Given the description of an element on the screen output the (x, y) to click on. 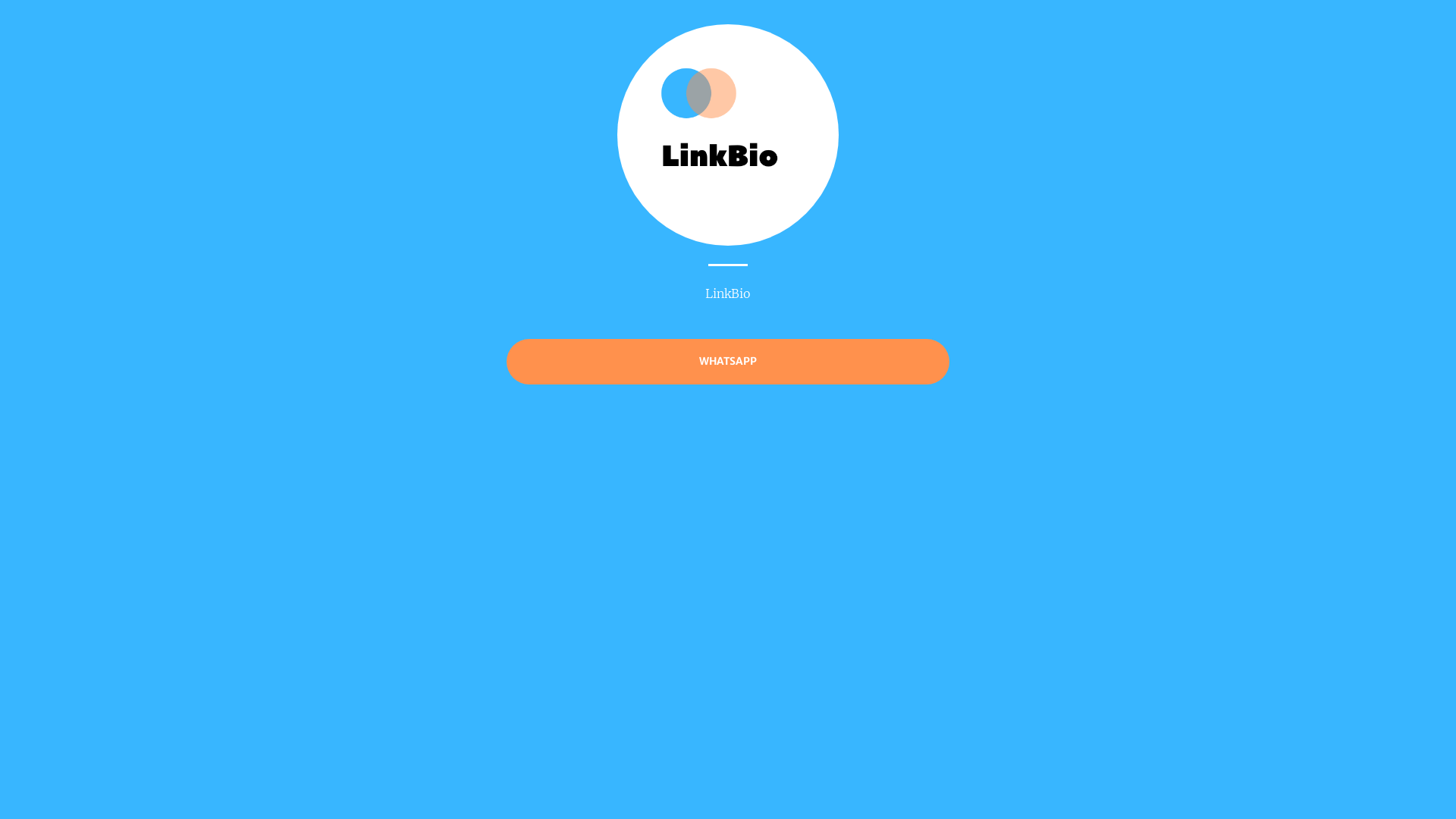
WHATSAPP Element type: text (727, 361)
